Given the description of an element on the screen output the (x, y) to click on. 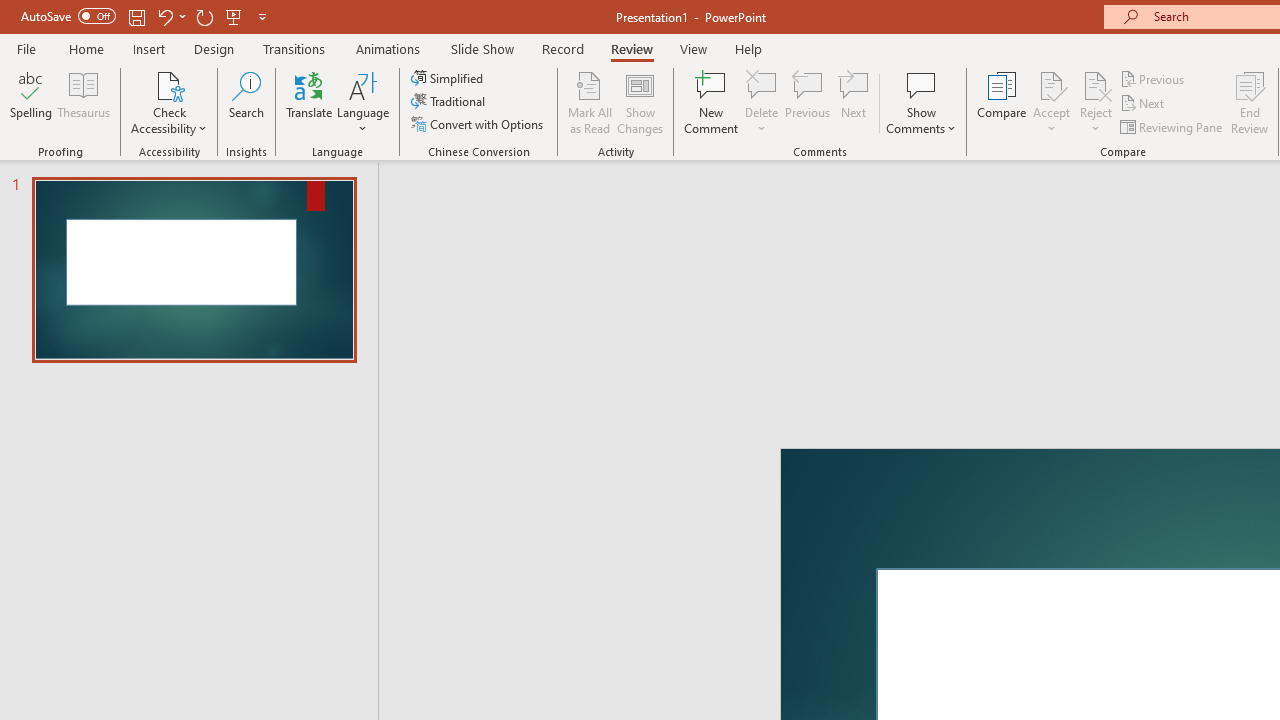
Language (363, 102)
Accept (1051, 102)
Accept Change (1051, 84)
Reject (1096, 102)
Show Changes (639, 102)
New Comment (711, 102)
Thesaurus... (83, 102)
